Given the description of an element on the screen output the (x, y) to click on. 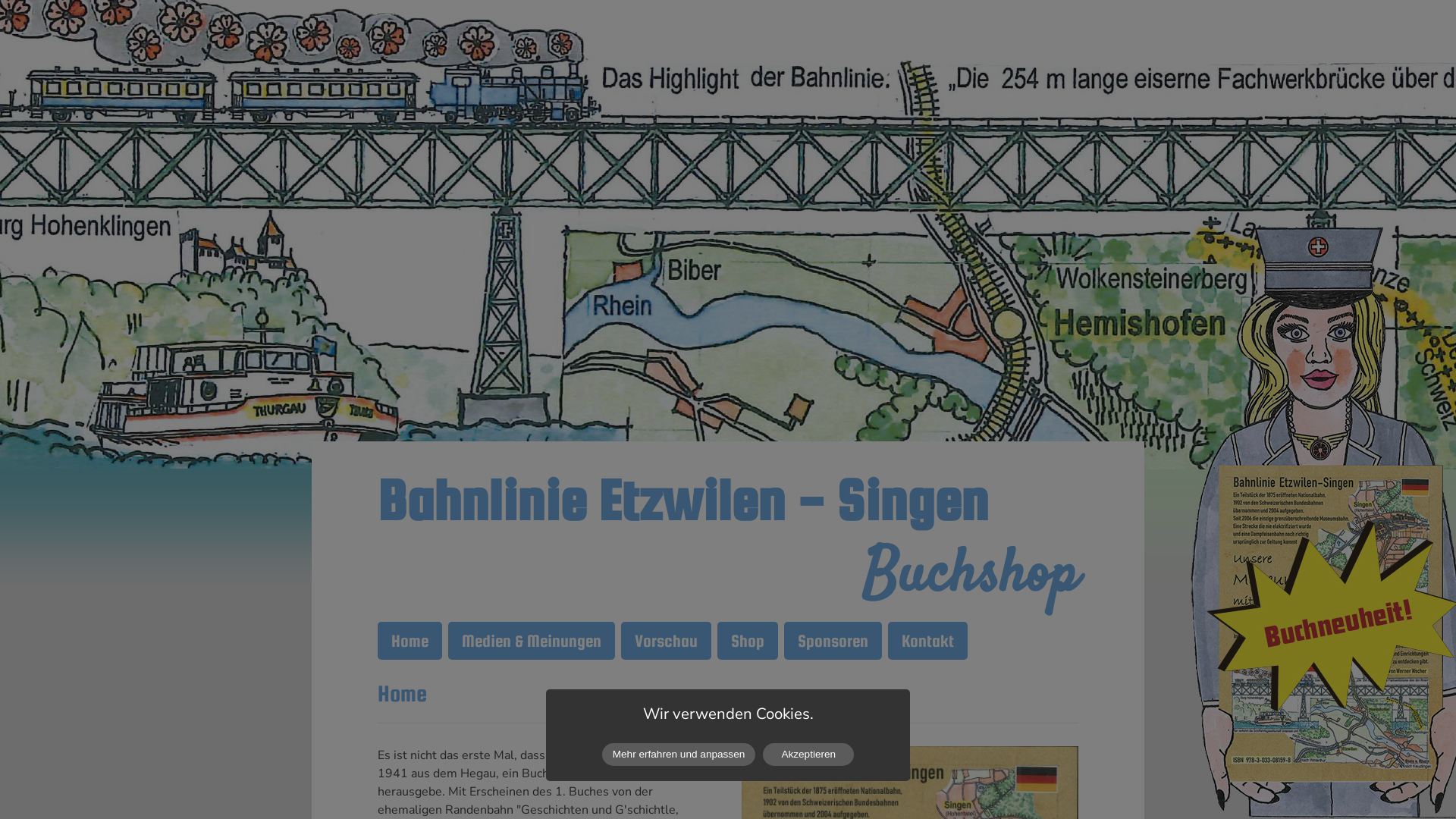
Medien & Meinungen Element type: text (531, 640)
Mehr erfahren und anpassen Element type: text (679, 754)
Shop Element type: text (747, 640)
Home Element type: text (409, 640)
Kontakt Element type: text (927, 640)
Sponsoren Element type: text (832, 640)
Akzeptieren Element type: text (807, 754)
Vorschau Element type: text (666, 640)
